Given the description of an element on the screen output the (x, y) to click on. 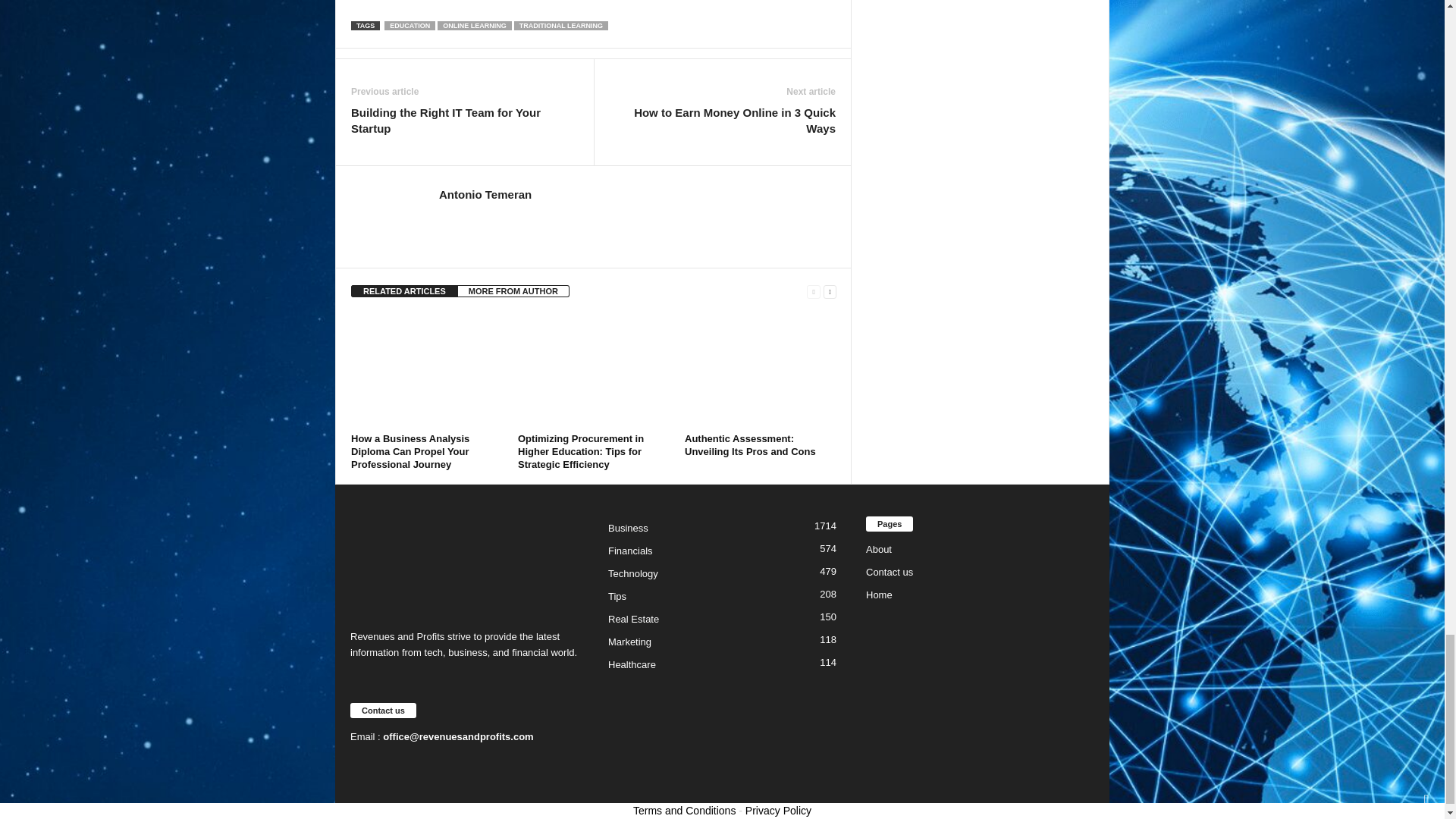
Authentic Assessment: Unveiling Its Pros and Cons (759, 370)
